Given the description of an element on the screen output the (x, y) to click on. 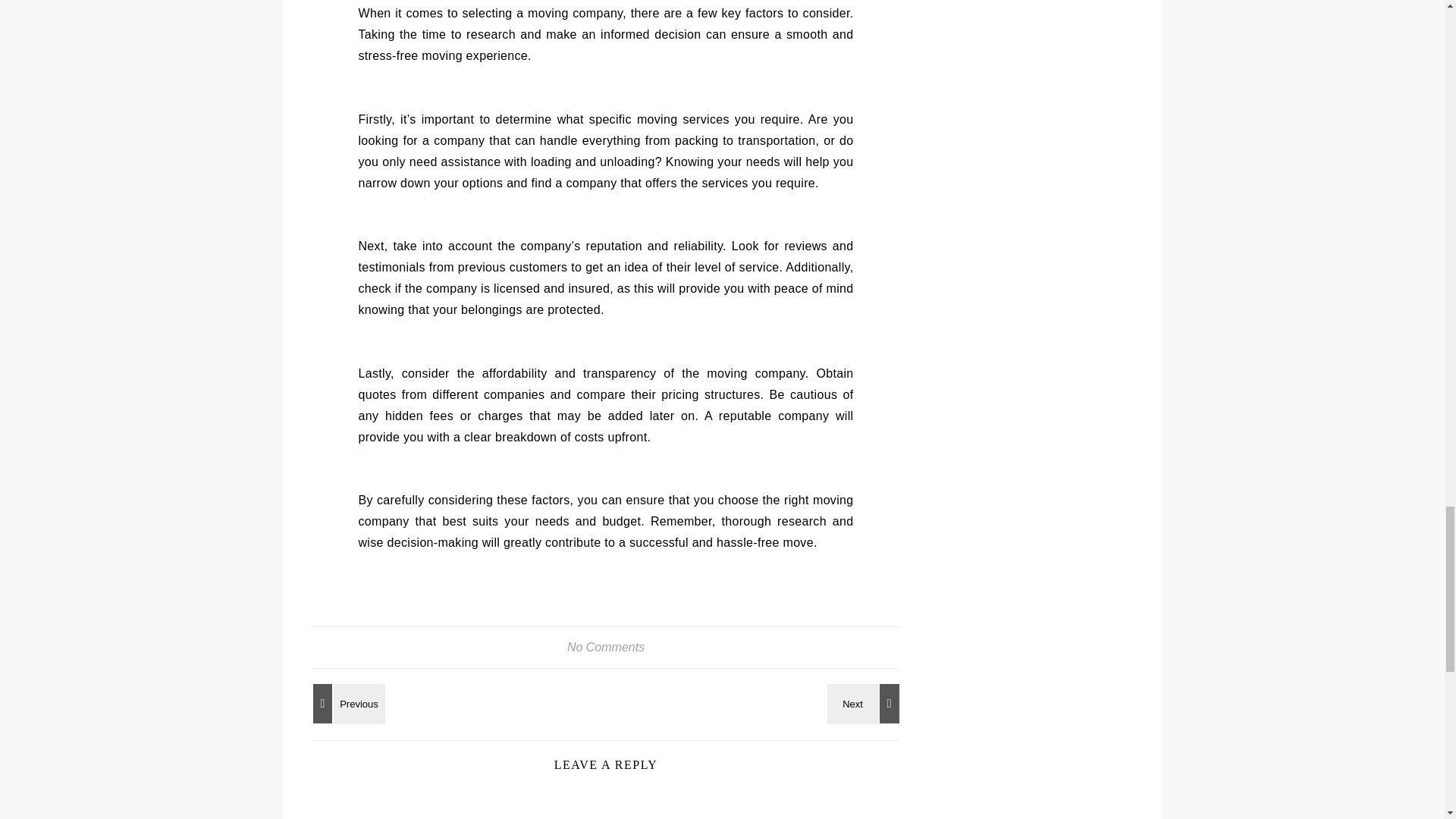
No Comments (606, 646)
